Given the description of an element on the screen output the (x, y) to click on. 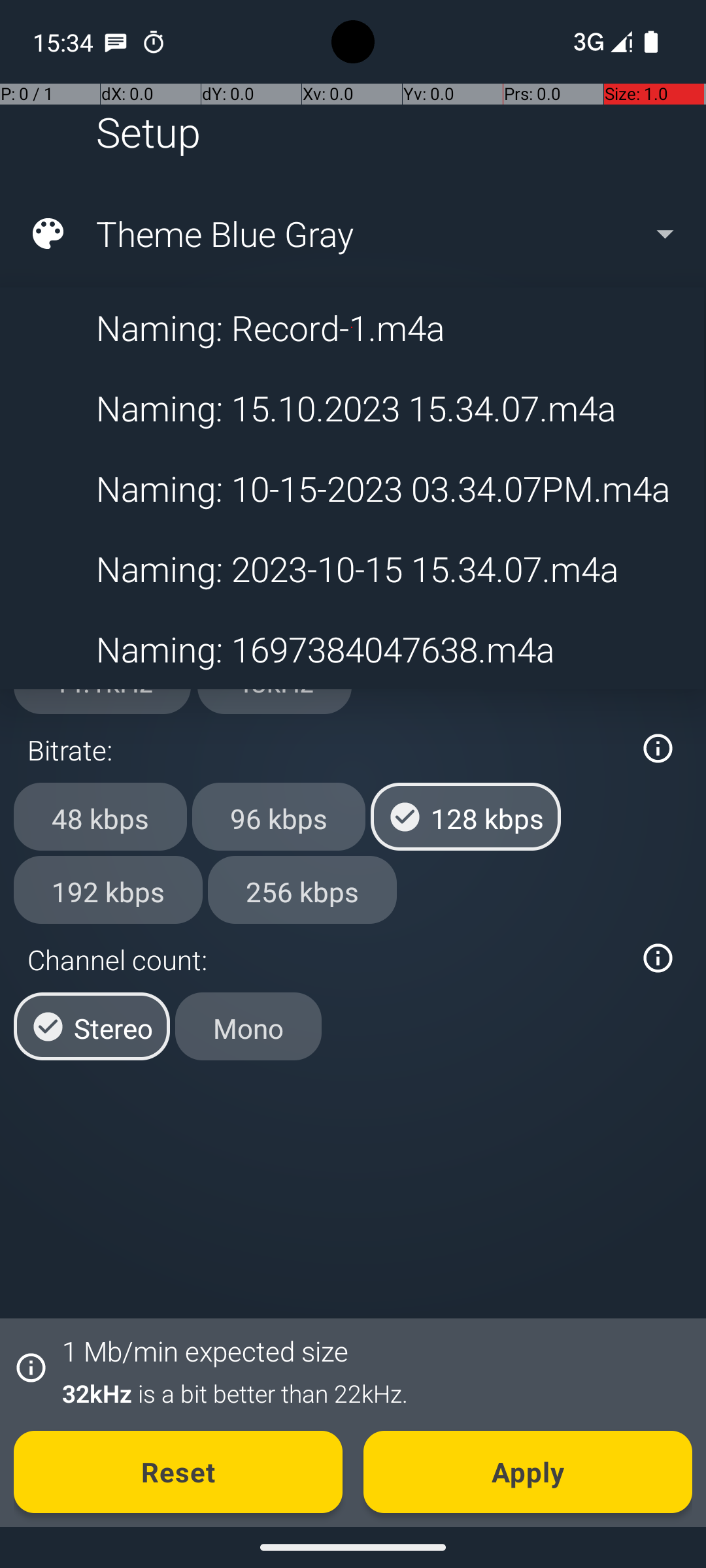
Naming: 15.10.2023 15.34.07.m4a Element type: android.widget.TextView (352, 407)
Naming: 10-15-2023 03.34.07PM.m4a Element type: android.widget.TextView (352, 488)
Naming: 2023-10-15 15.34.07.m4a Element type: android.widget.TextView (352, 568)
Naming: 1697384047638.m4a Element type: android.widget.TextView (352, 648)
